Given the description of an element on the screen output the (x, y) to click on. 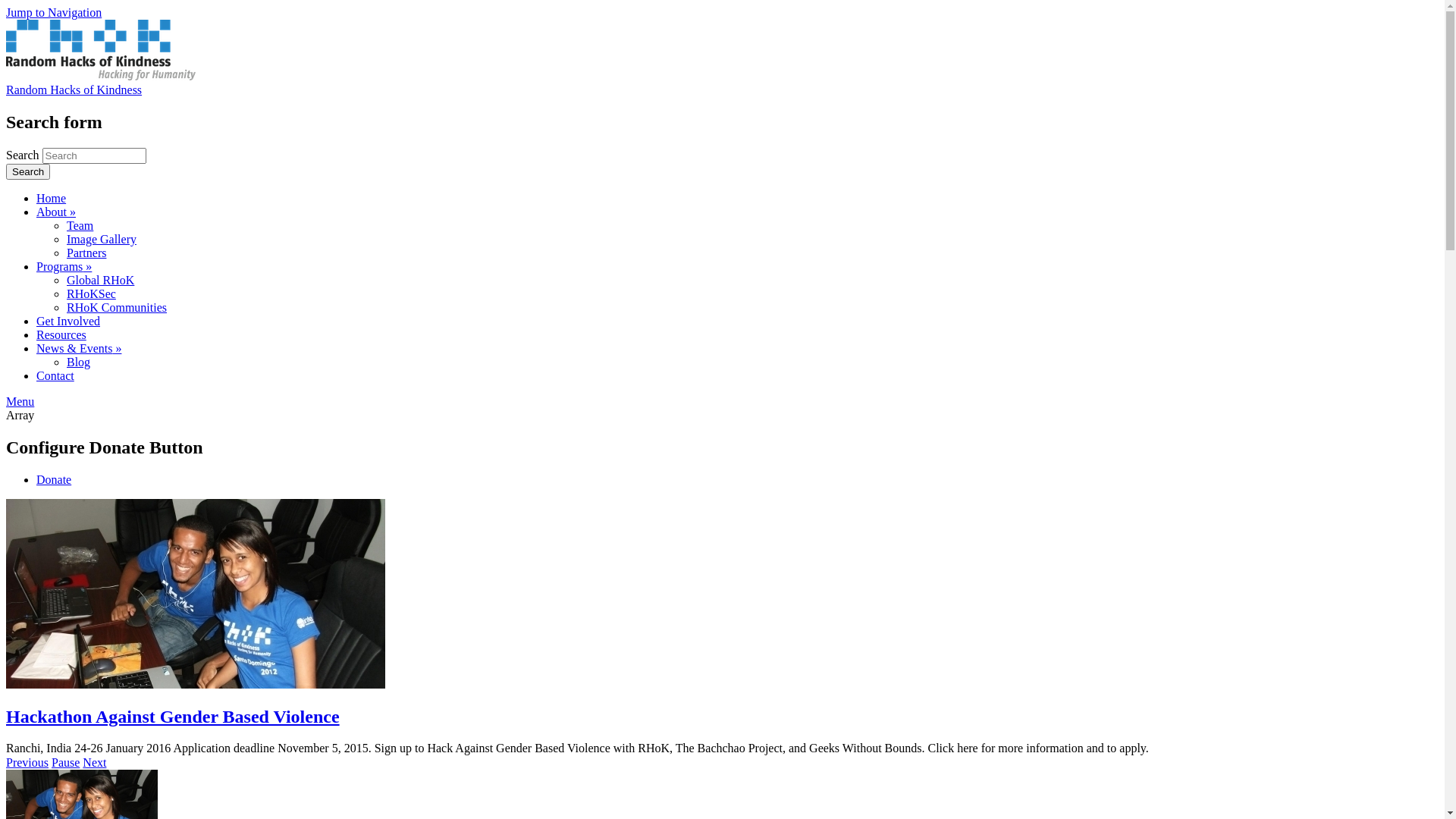
Home Element type: text (50, 197)
Jump to Navigation Element type: text (53, 12)
Get Involved Element type: text (68, 320)
Search Element type: text (28, 171)
Partners Element type: text (86, 252)
Home Element type: hover (100, 75)
Blog Element type: text (78, 361)
Previous Element type: text (27, 762)
RHoKSec Element type: text (91, 293)
Hackathon Against Gender Based Violence Element type: text (172, 716)
Resources Element type: text (61, 334)
Pause Element type: text (65, 762)
Image Gallery Element type: text (101, 238)
Contact Element type: text (55, 375)
Global RHoK Element type: text (100, 279)
Menu Element type: text (20, 401)
Enter the terms you wish to search for. Element type: hover (94, 155)
Donate Element type: text (53, 479)
Next Element type: text (94, 762)
Random Hacks of Kindness Element type: text (73, 89)
RHoK Communities Element type: text (116, 307)
Team Element type: text (79, 225)
